Given the description of an element on the screen output the (x, y) to click on. 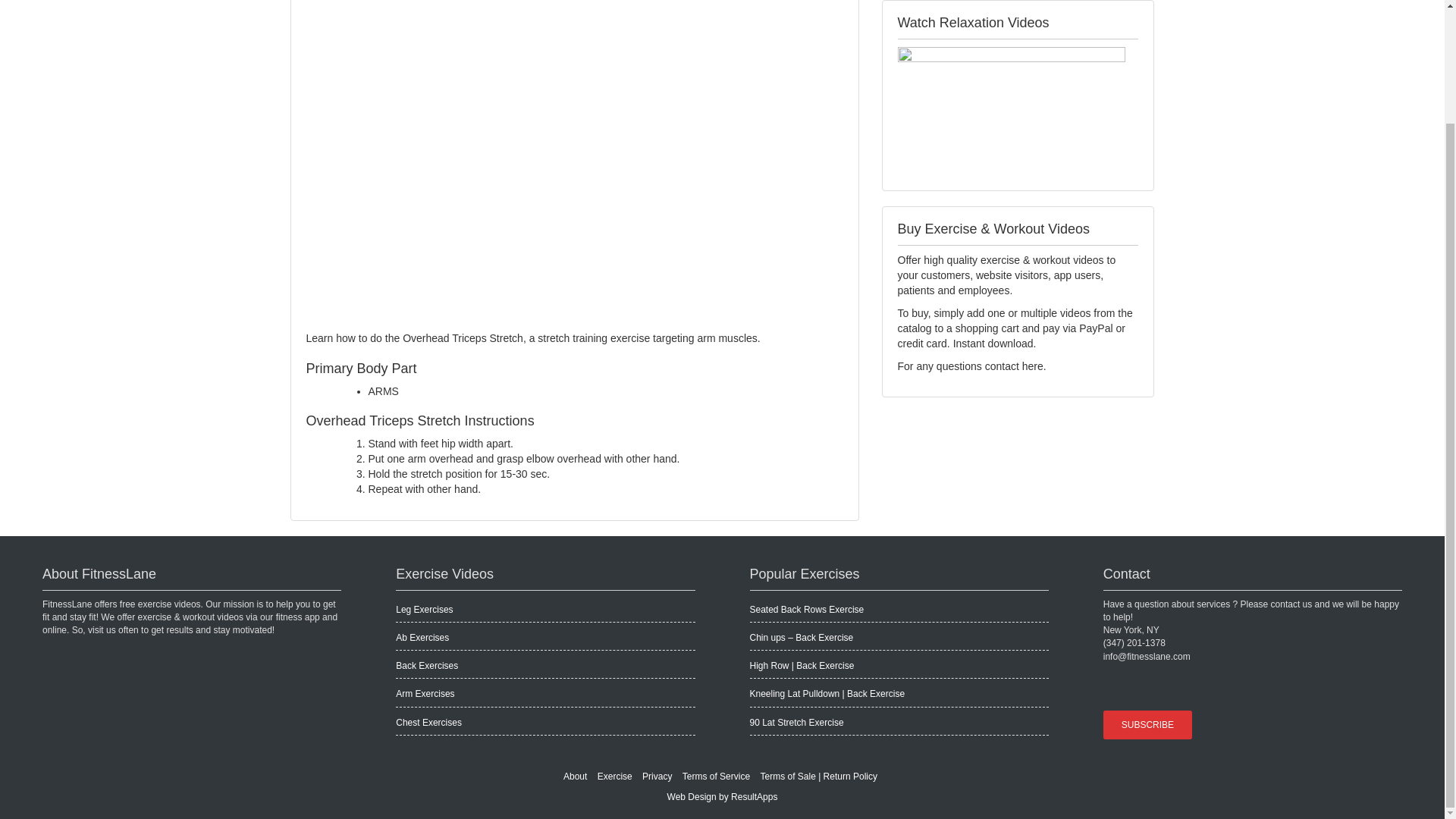
Leg Exercises (424, 609)
Privacy (656, 776)
Back Exercises (427, 665)
Terms of Service (715, 776)
Seated Back Rows Exercise (806, 609)
SUBSCRIBE (1147, 724)
About (574, 776)
Ab Exercises (422, 637)
Web Design by ResultApps (721, 796)
Exercise (613, 776)
